Given the description of an element on the screen output the (x, y) to click on. 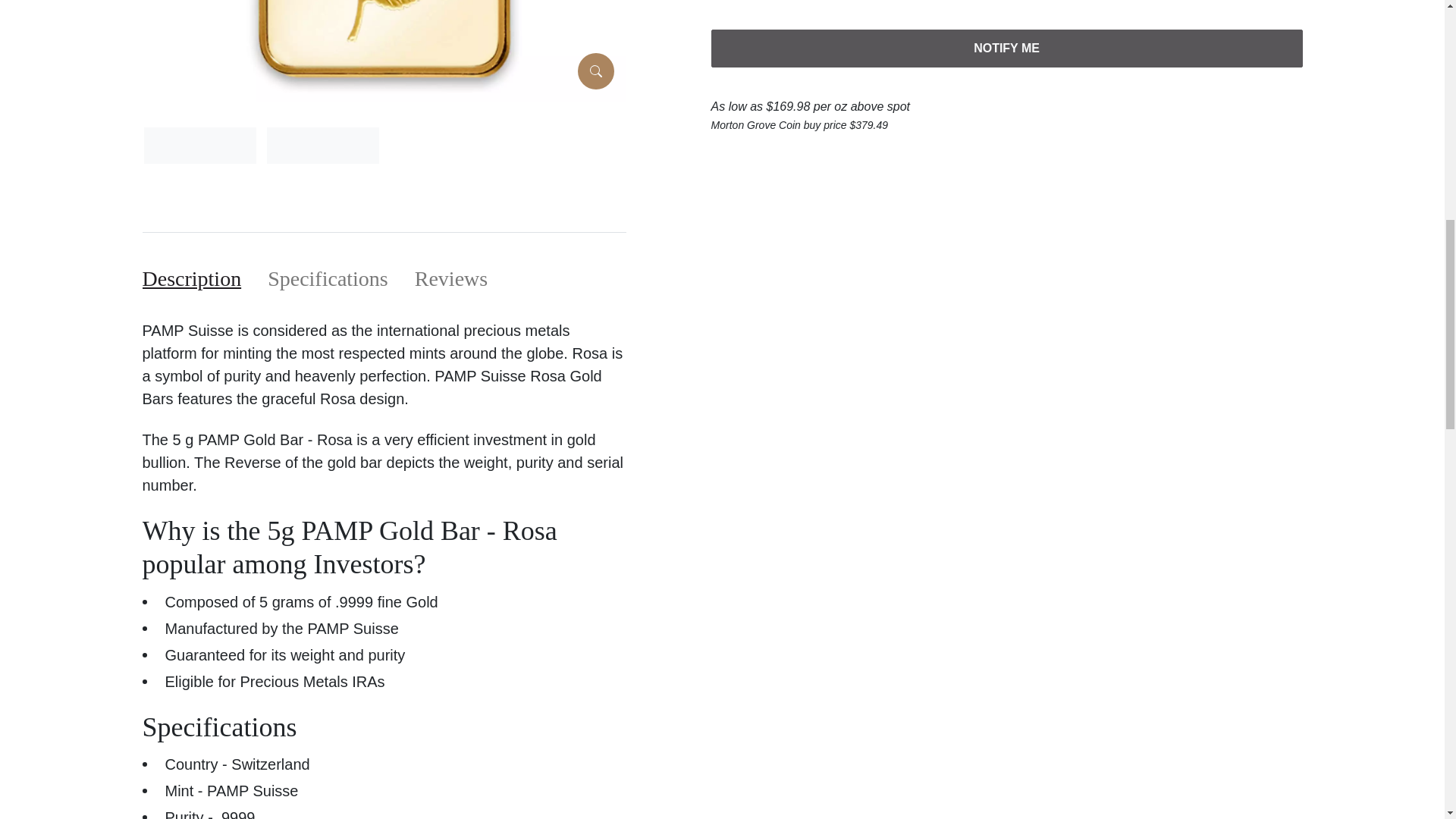
Reviews (450, 278)
NOTIFY ME (1007, 48)
Specifications (327, 278)
Description (191, 278)
